Given the description of an element on the screen output the (x, y) to click on. 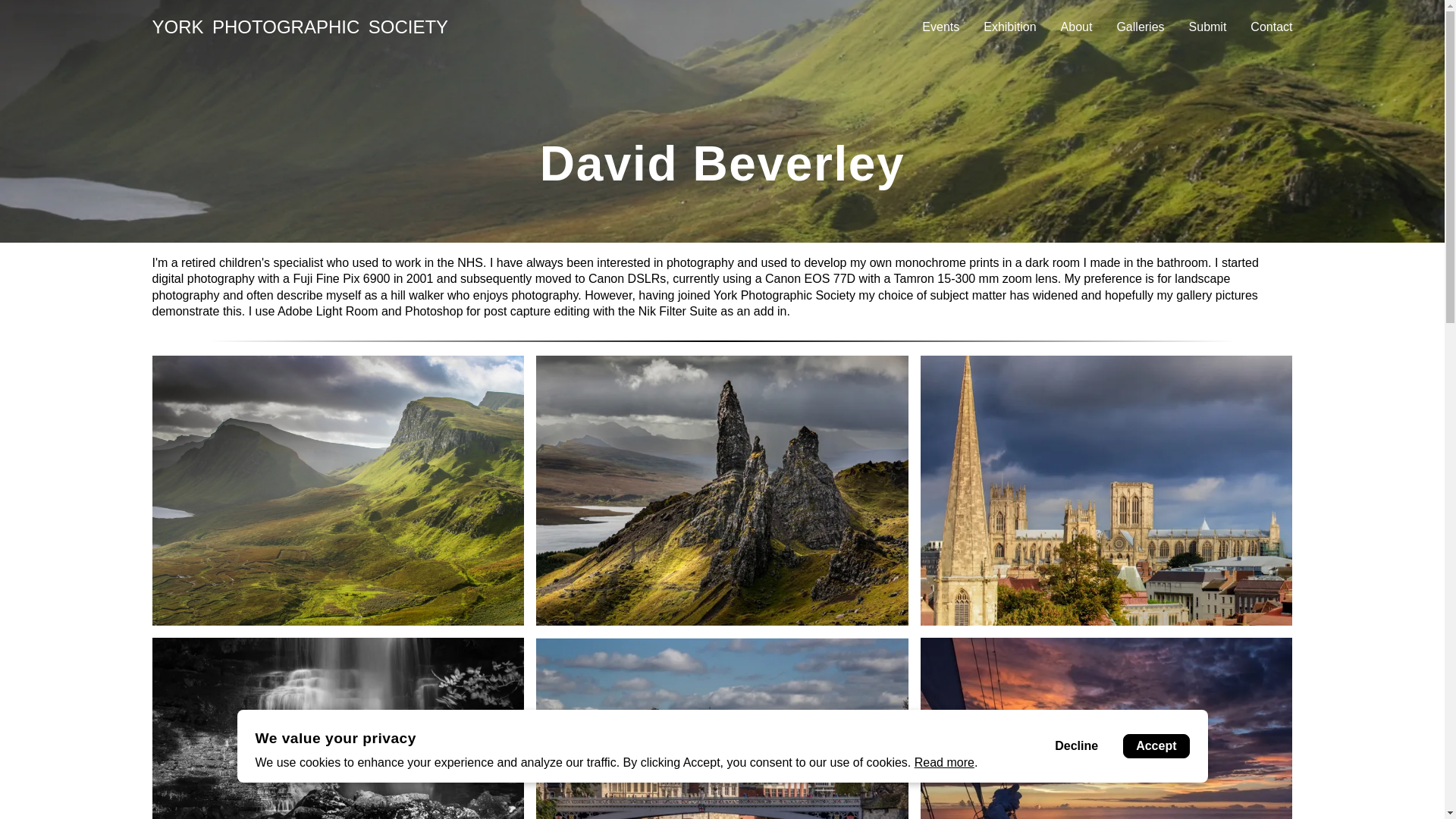
Read more (944, 762)
Accept (1155, 745)
Submit (1208, 27)
Events (940, 27)
Decline (1076, 745)
Contact (1271, 27)
YORK PHOTOGRAPHIC SOCIETY (435, 26)
About (1077, 27)
Exhibition (1009, 27)
Galleries (1139, 27)
